Given the description of an element on the screen output the (x, y) to click on. 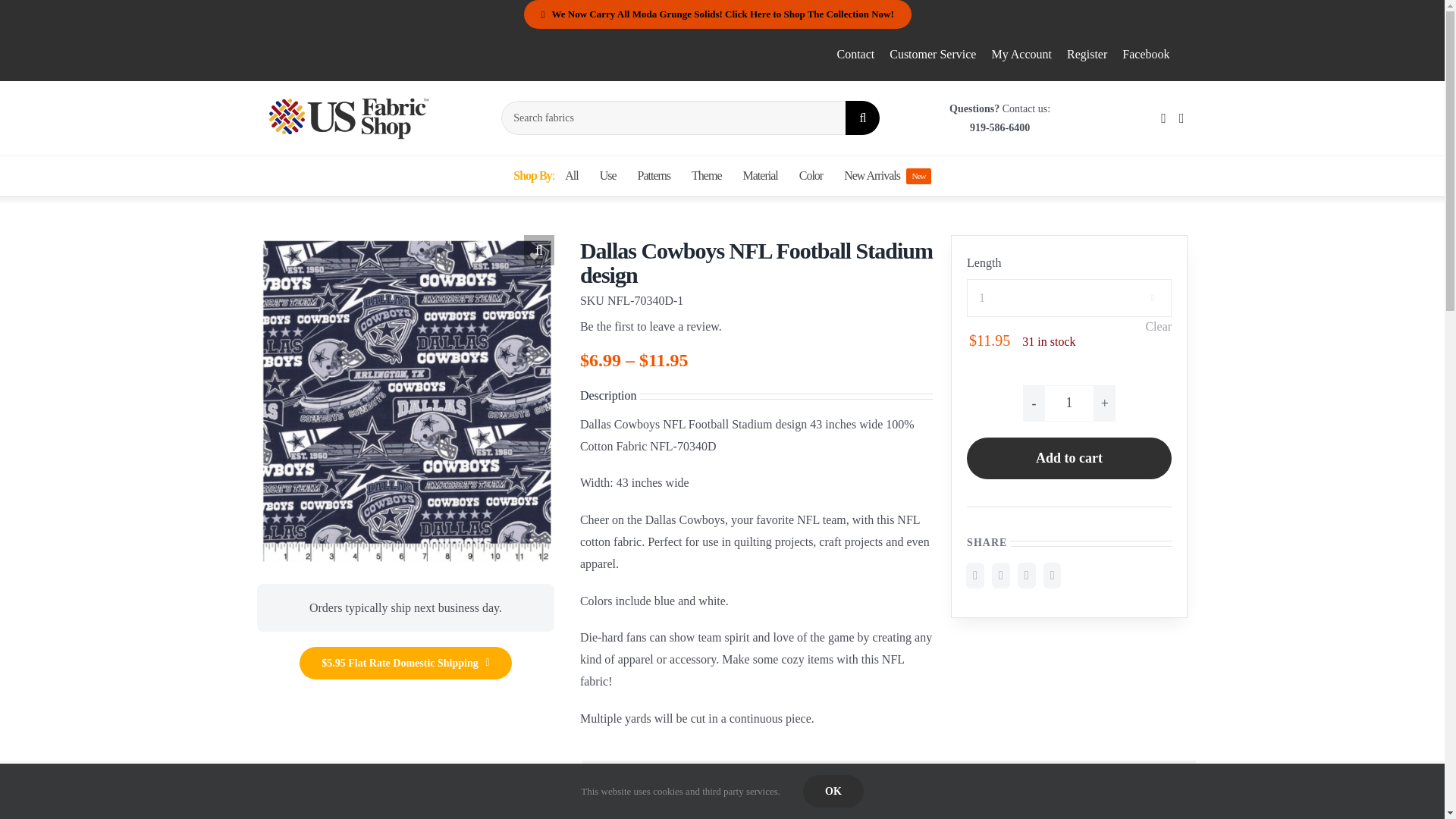
Clear (1158, 326)
Material (760, 176)
Customer Service (933, 55)
Contact (545, 176)
Add to cart (855, 55)
Color (1069, 458)
Log In (810, 176)
Be the first to leave a review. (1141, 293)
1 (650, 327)
My Account (1069, 402)
Use (1021, 55)
Register (608, 176)
